Given the description of an element on the screen output the (x, y) to click on. 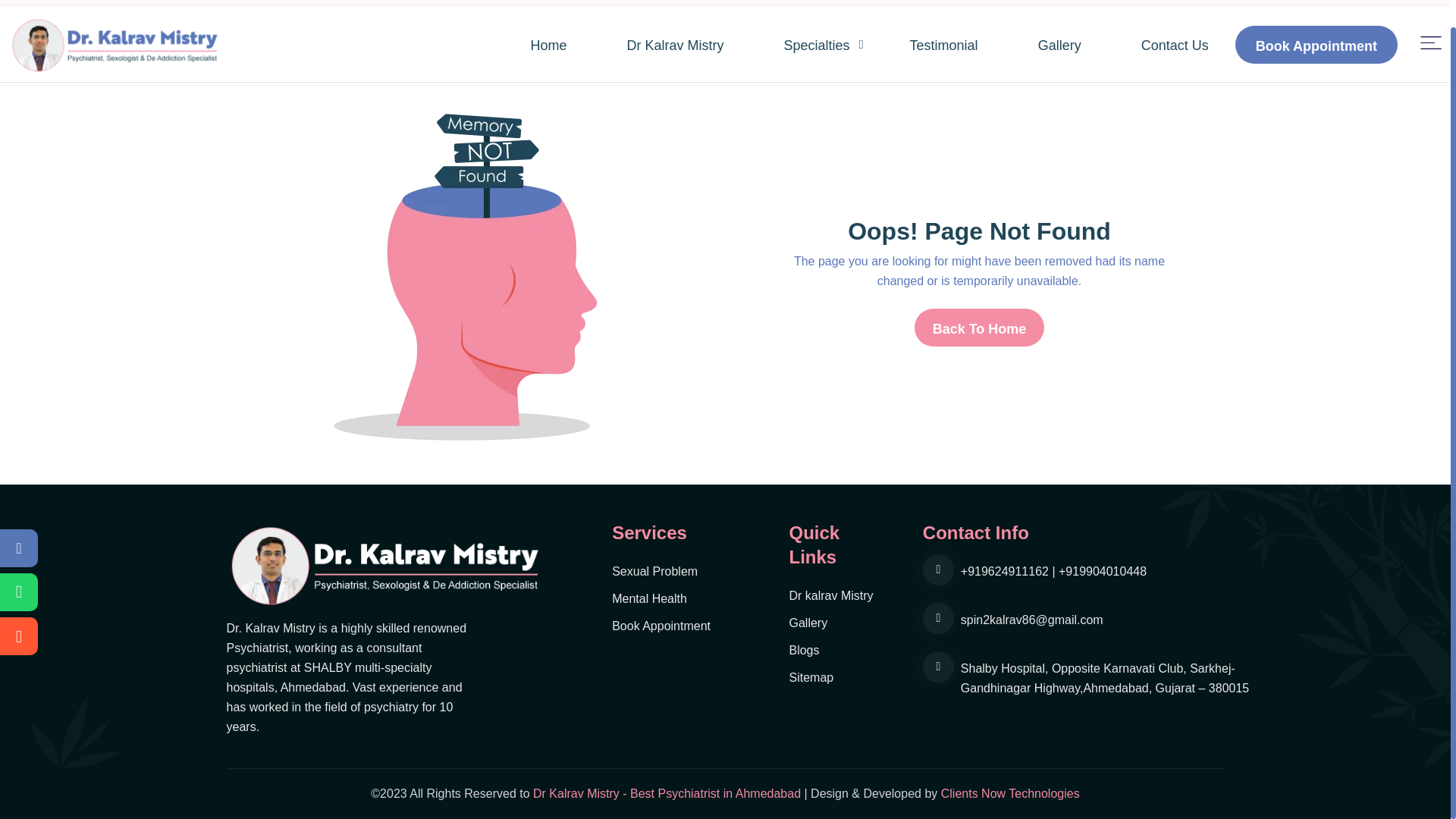
Specialties (842, 45)
Book Appointment (1315, 44)
Contact Us (1174, 45)
Dr Kalrav Mistry (700, 45)
Home (574, 45)
Testimonial (969, 45)
Gallery (1085, 45)
